Given the description of an element on the screen output the (x, y) to click on. 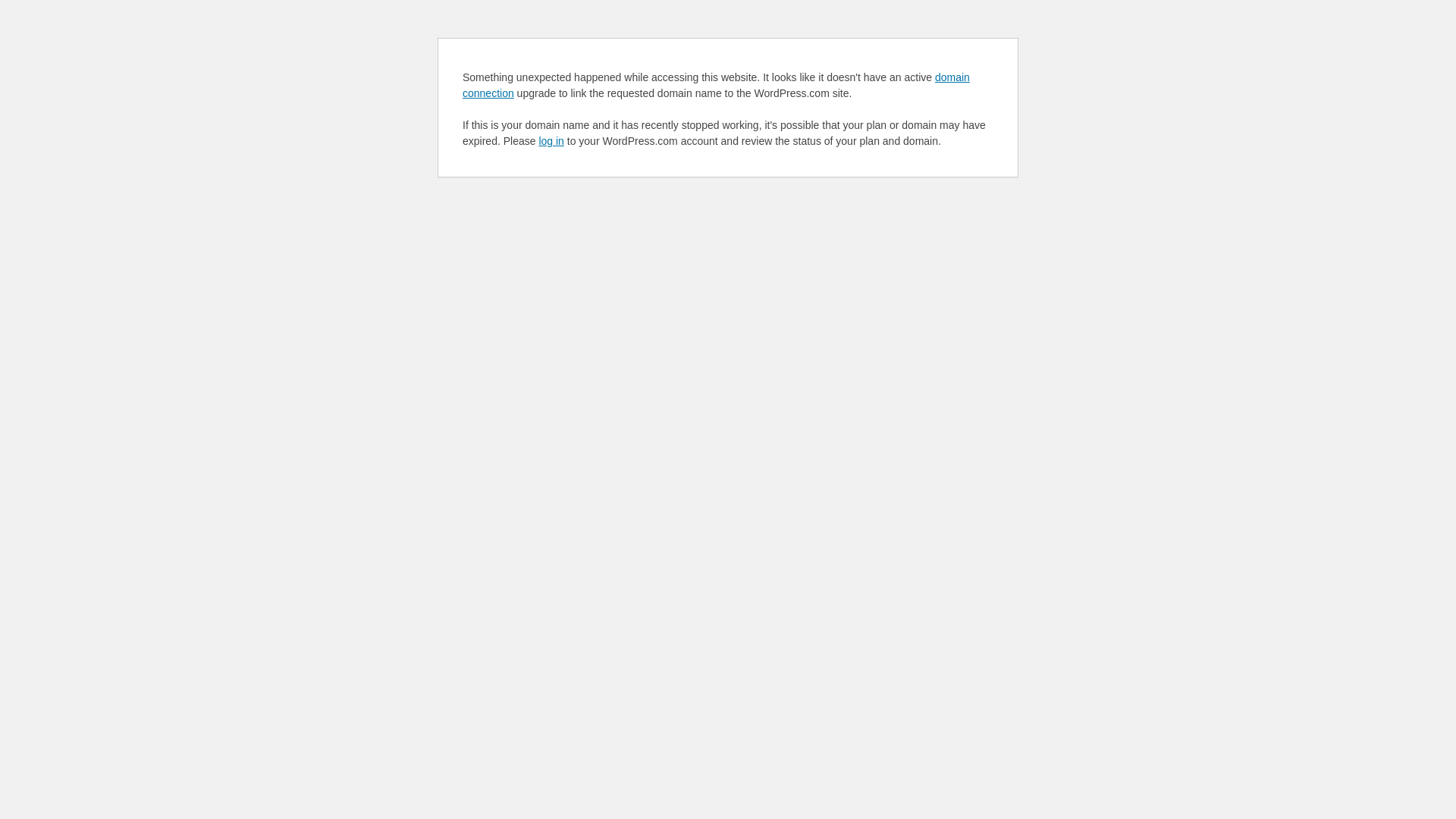
domain connection Element type: text (715, 85)
log in Element type: text (550, 140)
